Given the description of an element on the screen output the (x, y) to click on. 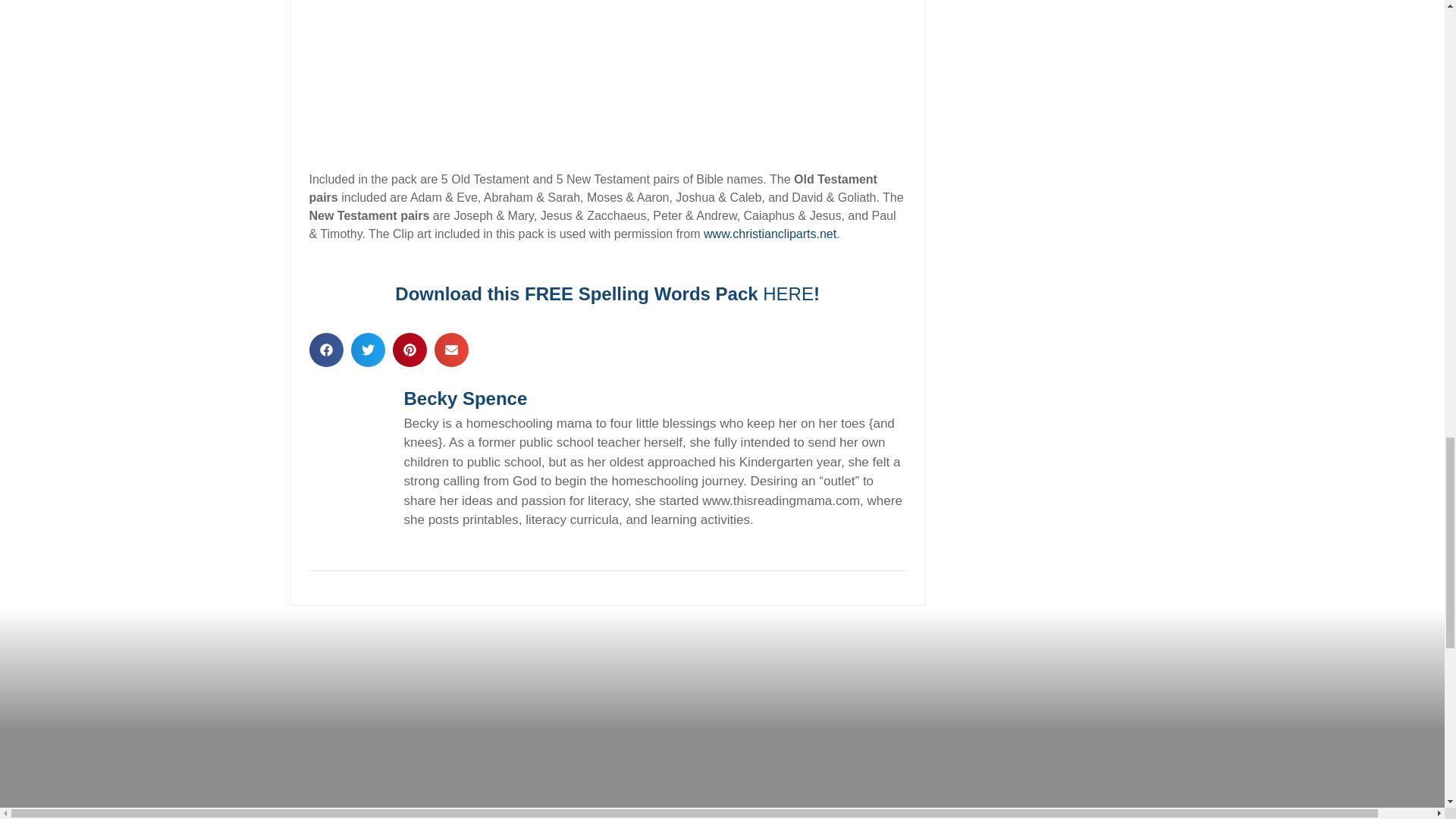
david and goliath example for spelling words (606, 65)
